Given the description of an element on the screen output the (x, y) to click on. 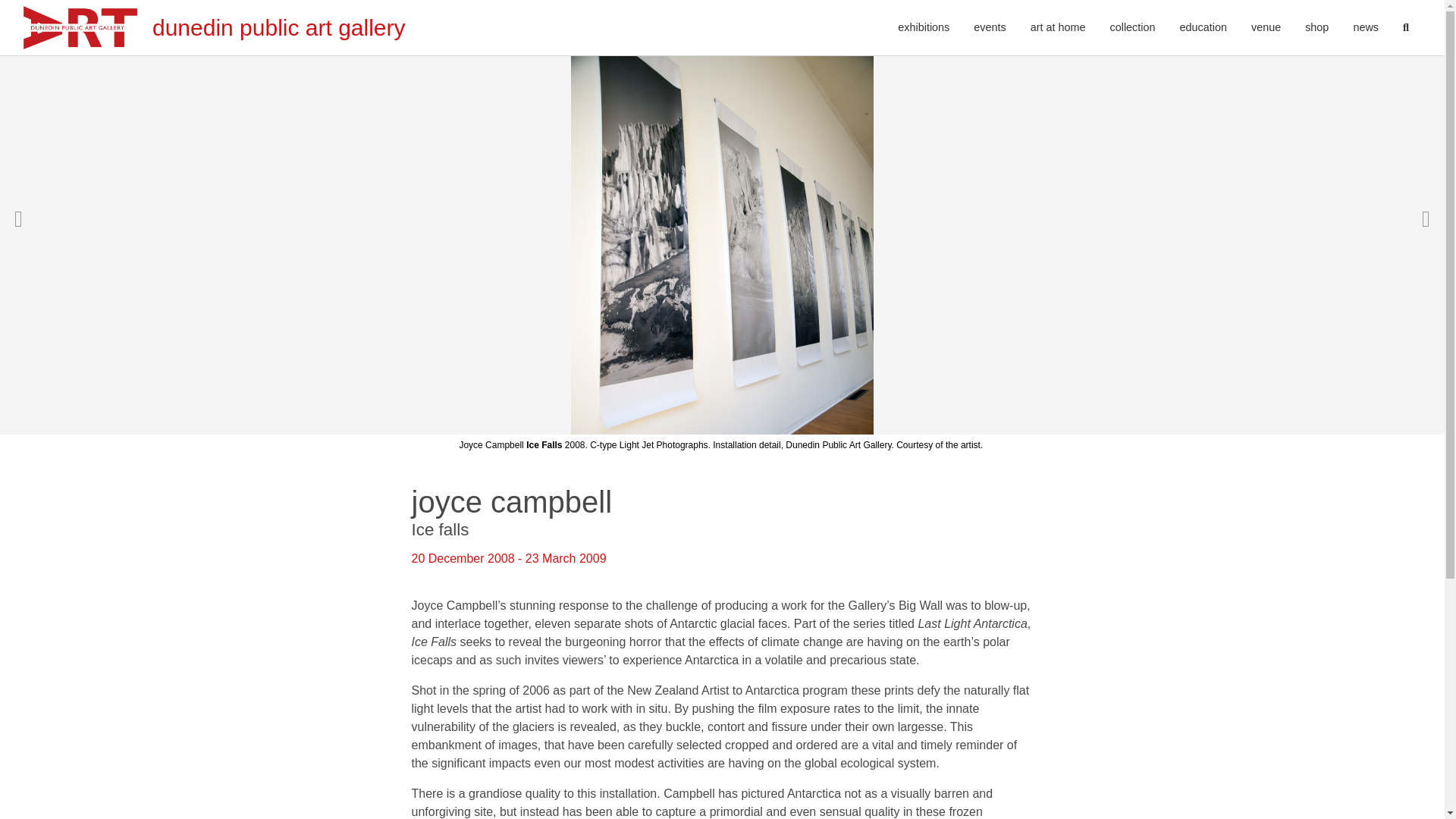
exhibitions (922, 27)
news (1365, 27)
dunedin public art gallery (214, 27)
education (1203, 27)
events (988, 27)
collection (1132, 27)
shop (1316, 27)
art at home (1057, 27)
venue (1265, 27)
